Given the description of an element on the screen output the (x, y) to click on. 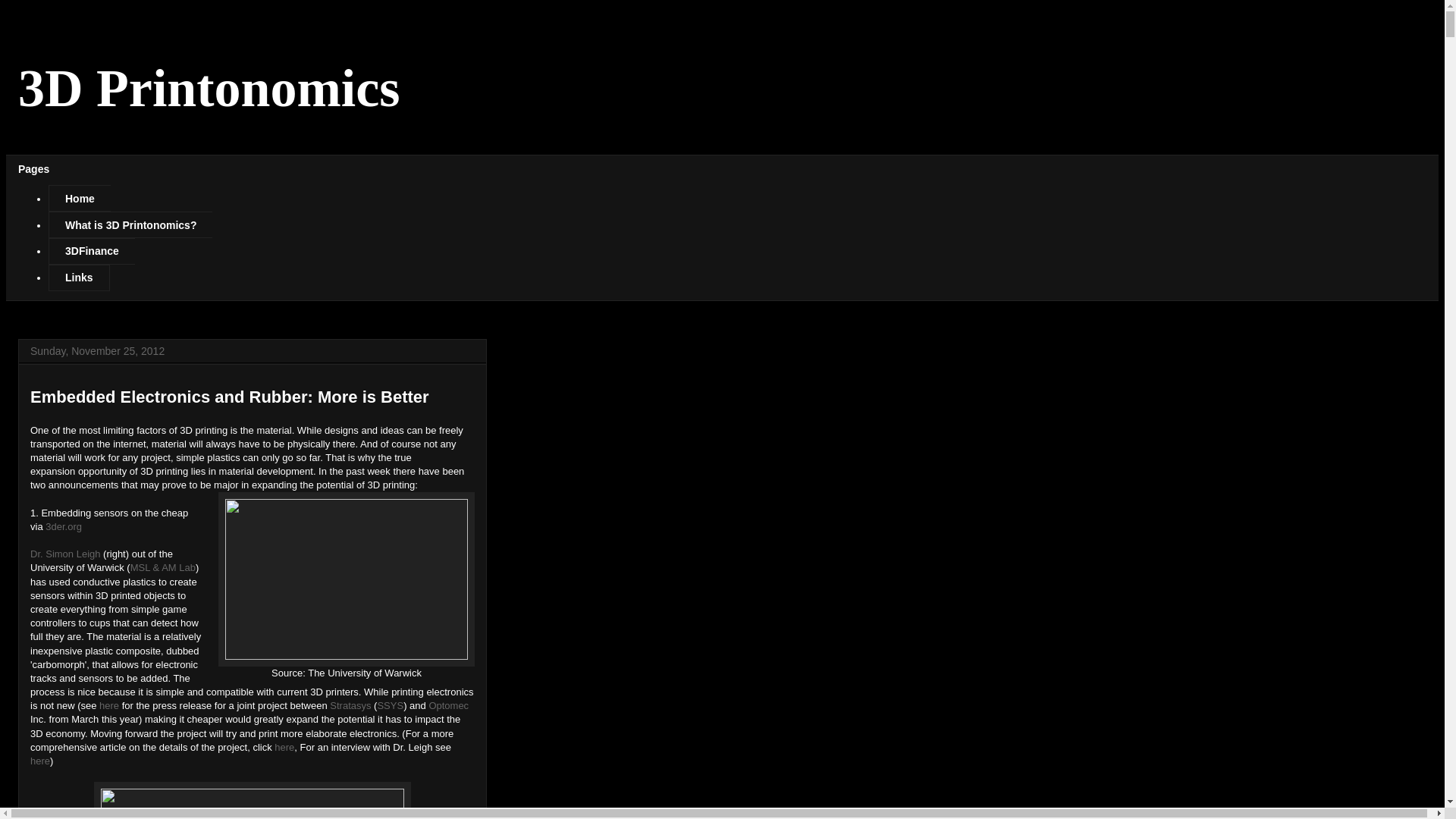
SSYS Element type: text (389, 705)
here Element type: text (40, 760)
3DFinance Element type: text (91, 251)
Dr. Simon Leigh Element type: text (65, 553)
3D Printonomics Element type: text (209, 88)
Links Element type: text (78, 277)
here Element type: text (109, 705)
Stratasys Element type: text (349, 705)
MSL & AM Lab Element type: text (162, 567)
Embedded Electronics and Rubber: More is Better Element type: text (229, 396)
here Element type: text (284, 747)
Optomec Element type: text (448, 705)
What is 3D Printonomics? Element type: text (130, 224)
Home Element type: text (79, 198)
3der.org Element type: text (63, 526)
